Given the description of an element on the screen output the (x, y) to click on. 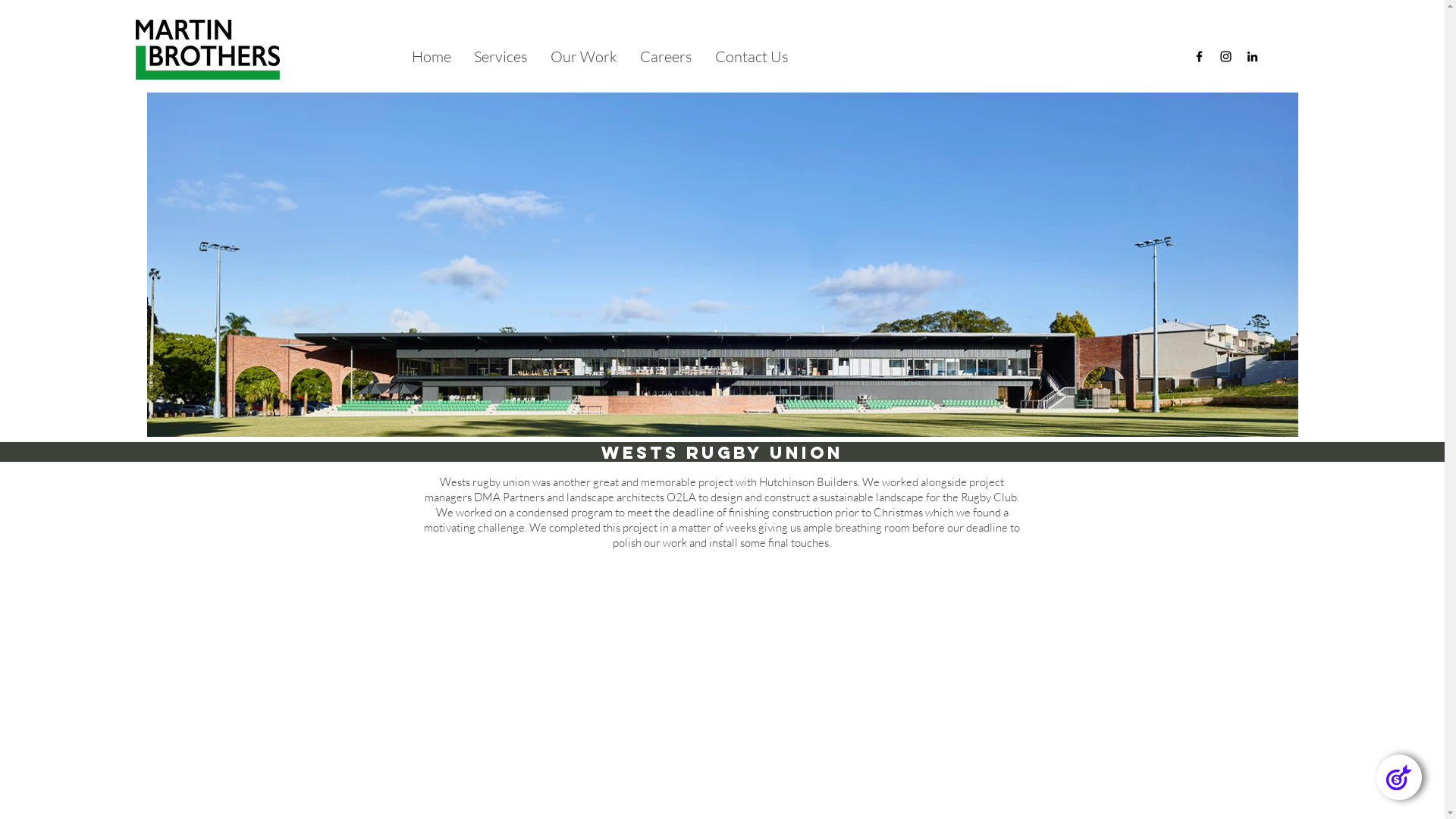
Home Element type: text (431, 56)
Careers Element type: text (665, 56)
Contact Us Element type: text (751, 56)
Our Work Element type: text (583, 56)
